Given the description of an element on the screen output the (x, y) to click on. 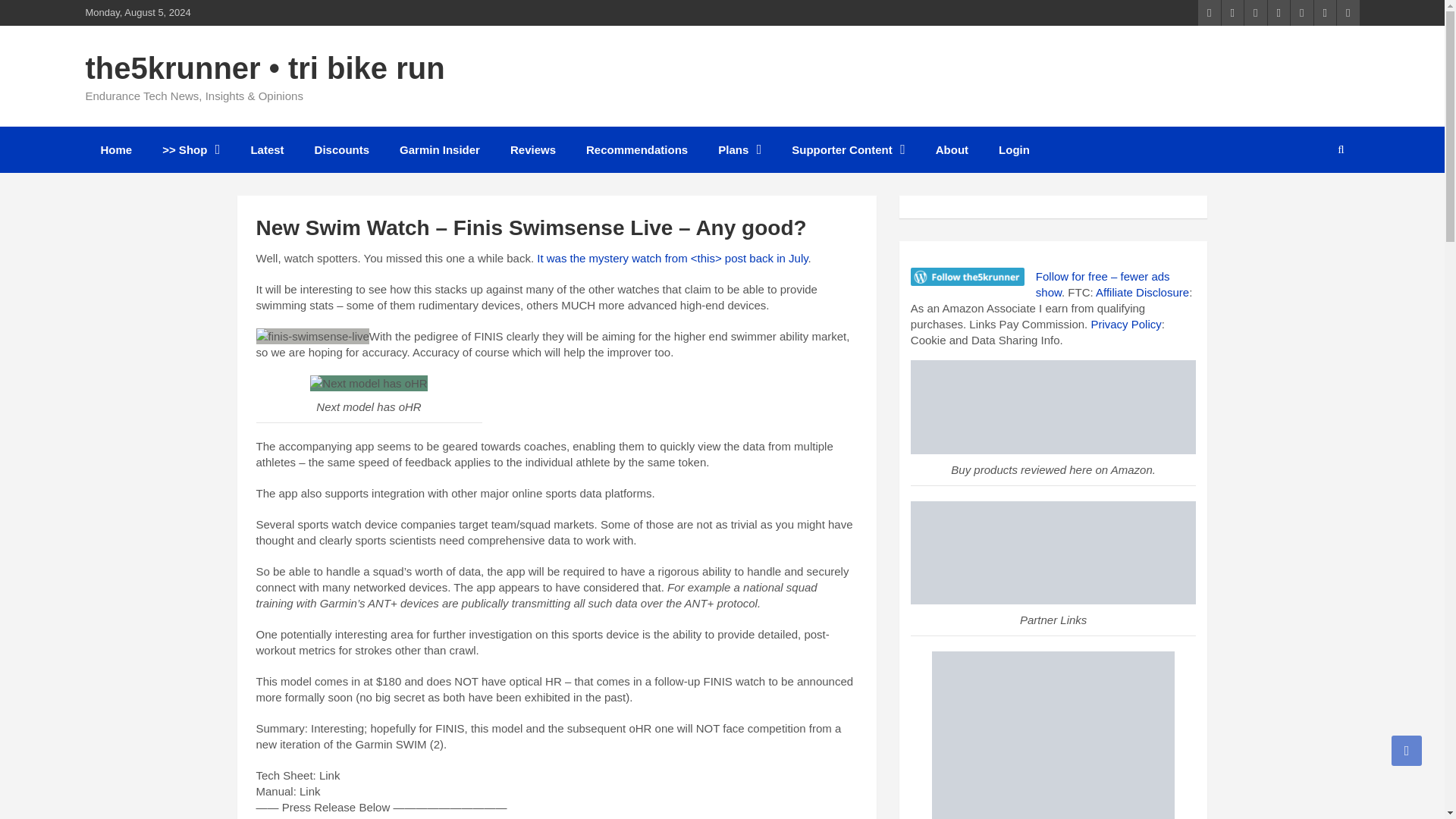
Go to Top (1406, 750)
Home (115, 149)
Garmin Insider (439, 149)
Recommendations (636, 149)
Latest (266, 149)
Discounts (342, 149)
Reviews (532, 149)
